Given the description of an element on the screen output the (x, y) to click on. 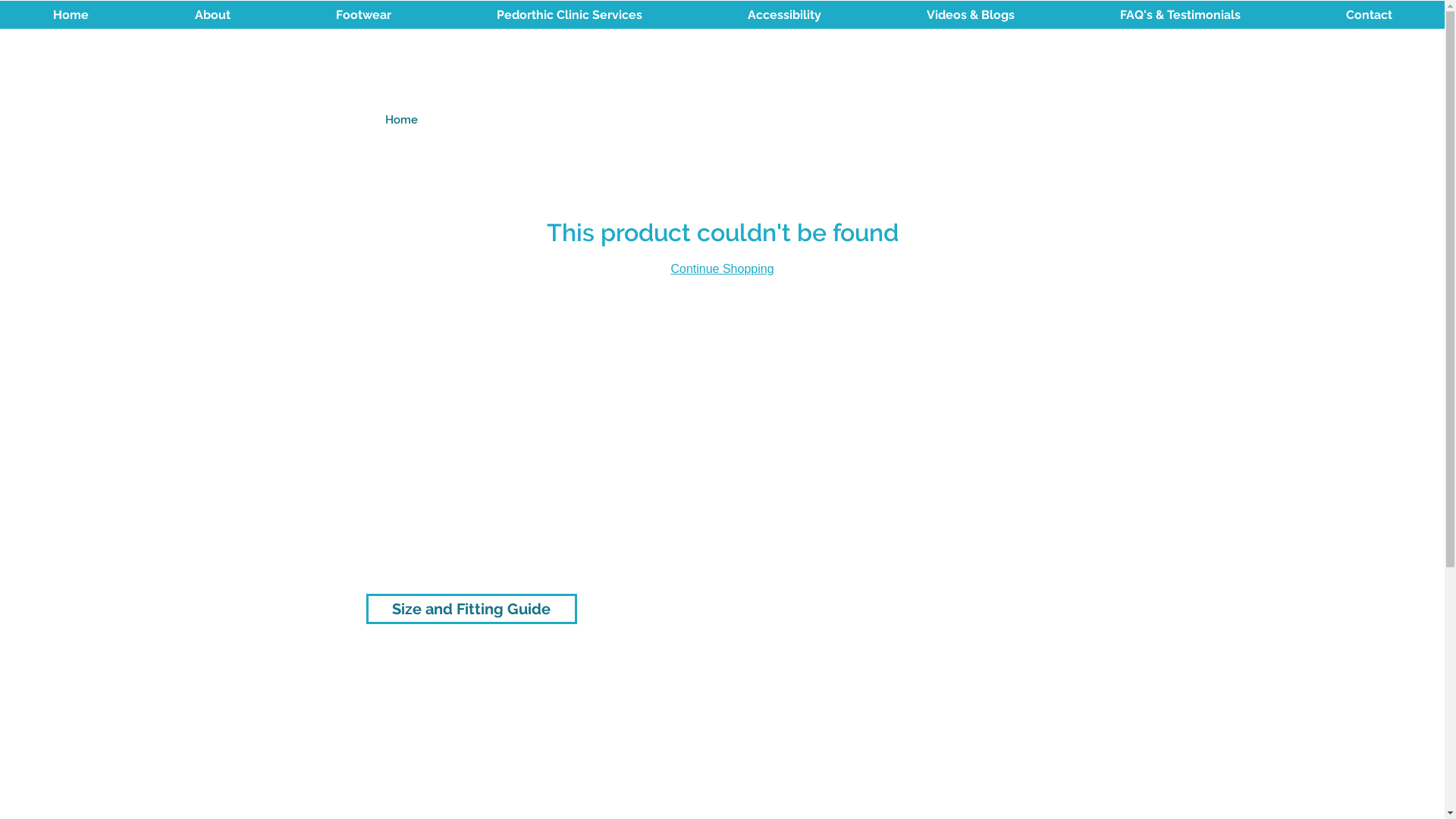
Home Element type: text (70, 14)
Contact Element type: text (1368, 14)
About Element type: text (211, 14)
Continue Shopping Element type: text (721, 268)
Accessibility Element type: text (783, 14)
Home Element type: text (401, 119)
Size and Fitting Guide Element type: text (470, 608)
Footwear Element type: text (362, 14)
